Given the description of an element on the screen output the (x, y) to click on. 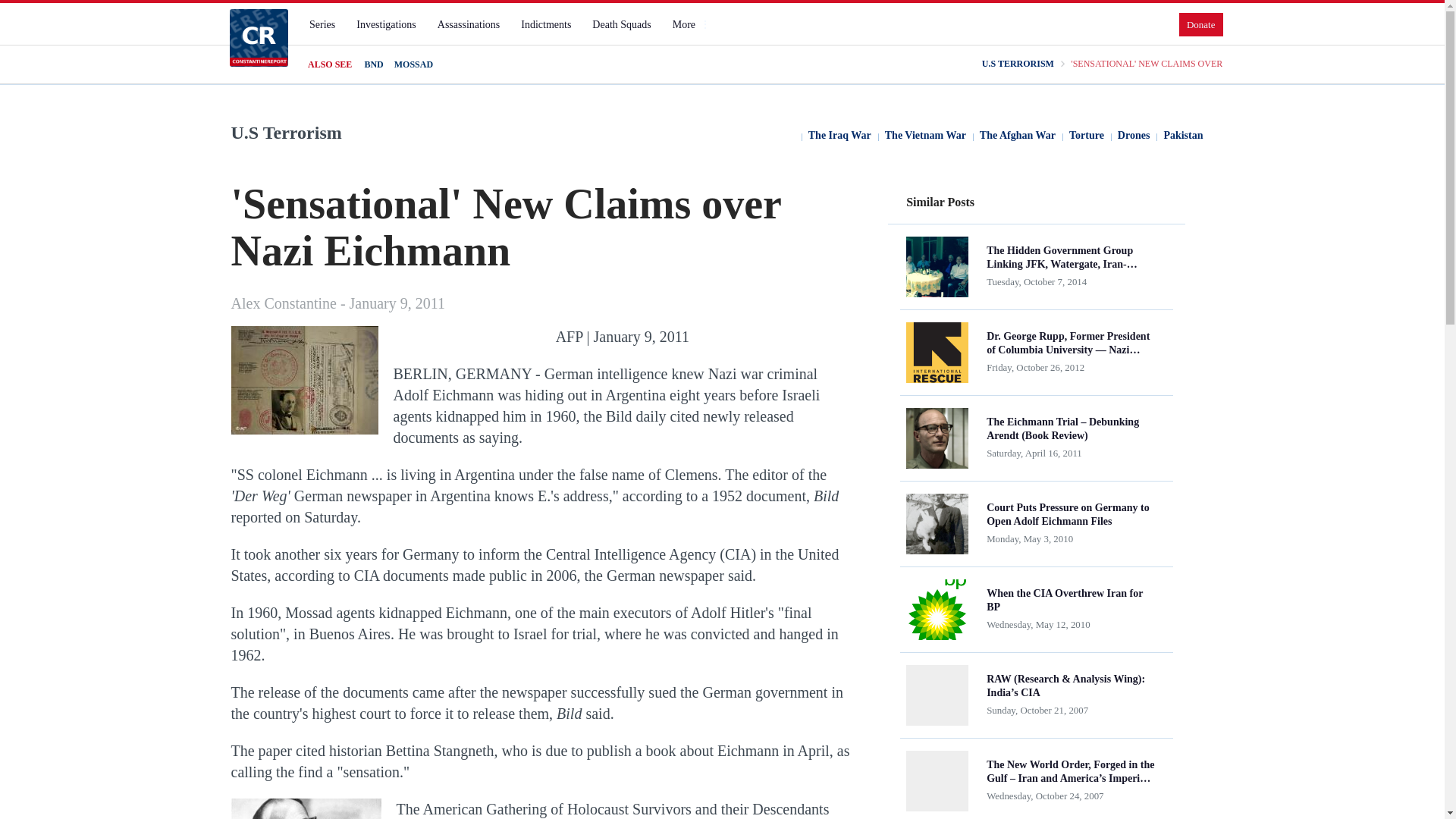
MOSSAD (413, 64)
U.S TERRORISM (1017, 63)
Assassinations (467, 23)
Donate (1201, 24)
Indictments (545, 23)
More (690, 24)
Investigations (386, 23)
Death Squads (621, 23)
Constantine Report (257, 37)
Series (321, 23)
